Given the description of an element on the screen output the (x, y) to click on. 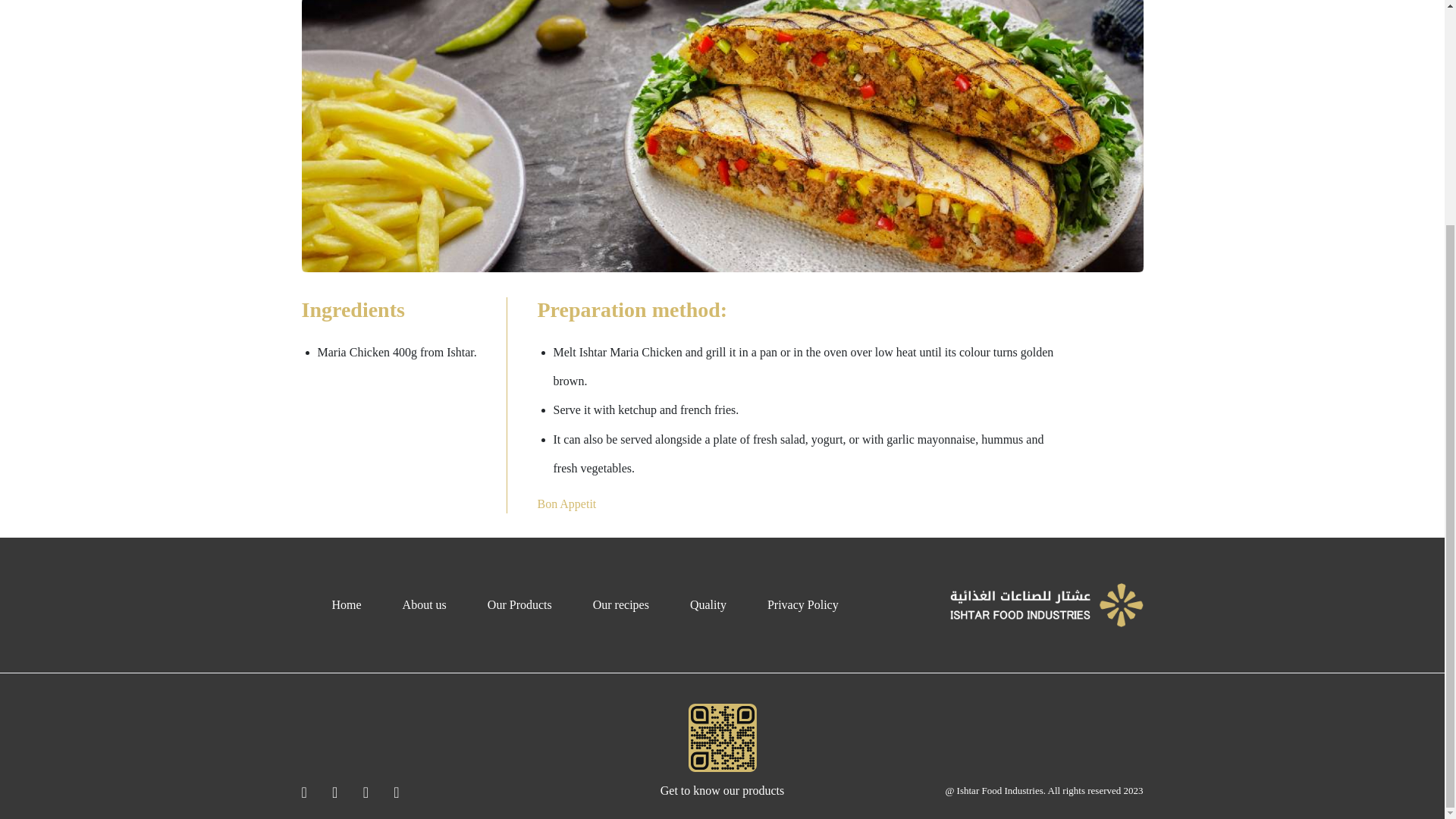
Privacy Policy (802, 604)
About us (424, 604)
Our recipes (620, 604)
Home (346, 604)
Quality (708, 604)
Our Products (519, 604)
